Given the description of an element on the screen output the (x, y) to click on. 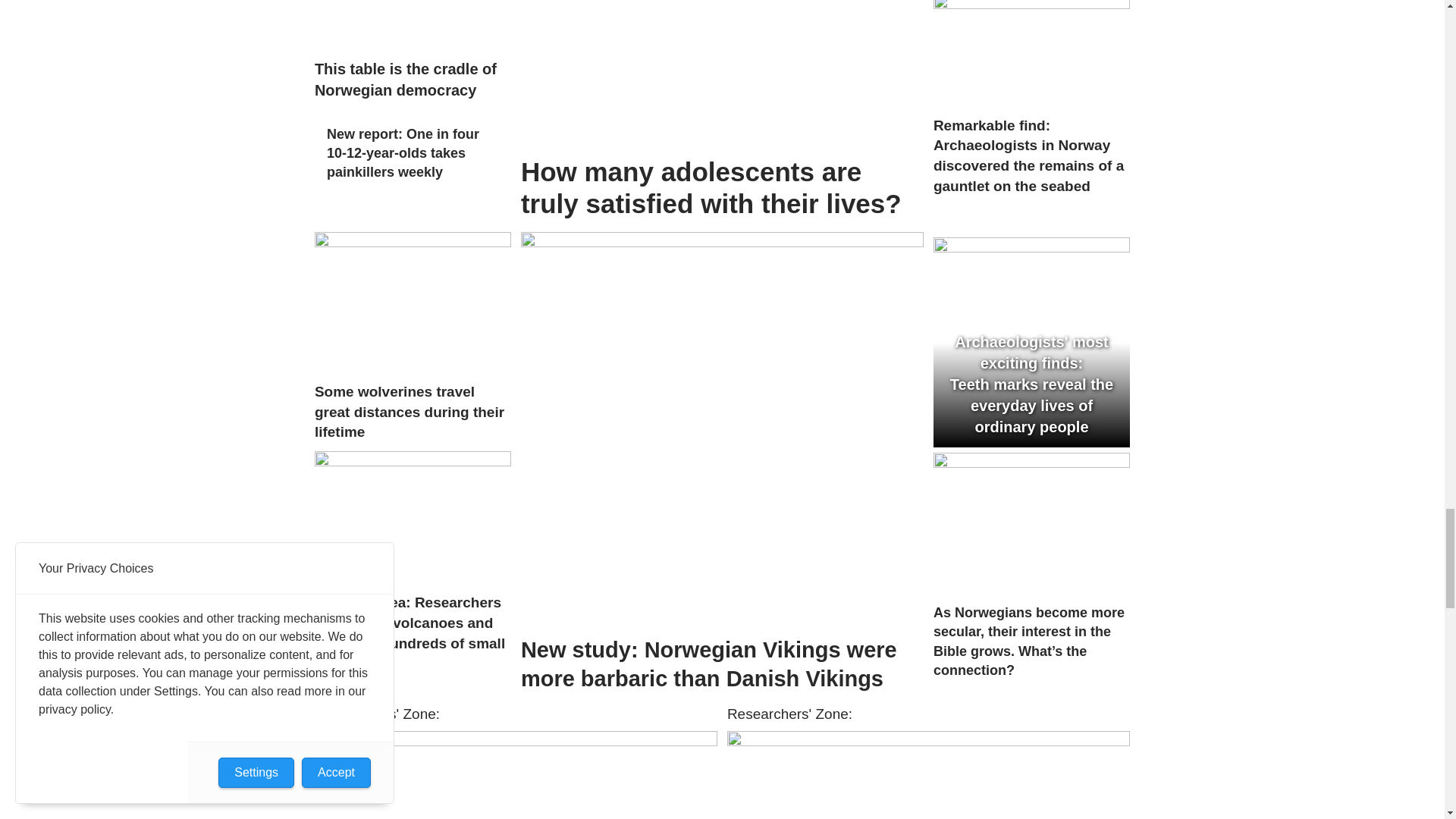
How many adolescents are truly satisfied with their lives? (722, 73)
Some wolverines travel great distances during their lifetime (412, 302)
Humans have always had difficulty attending (515, 775)
This table is the cradle of Norwegian democracy (412, 25)
